Given the description of an element on the screen output the (x, y) to click on. 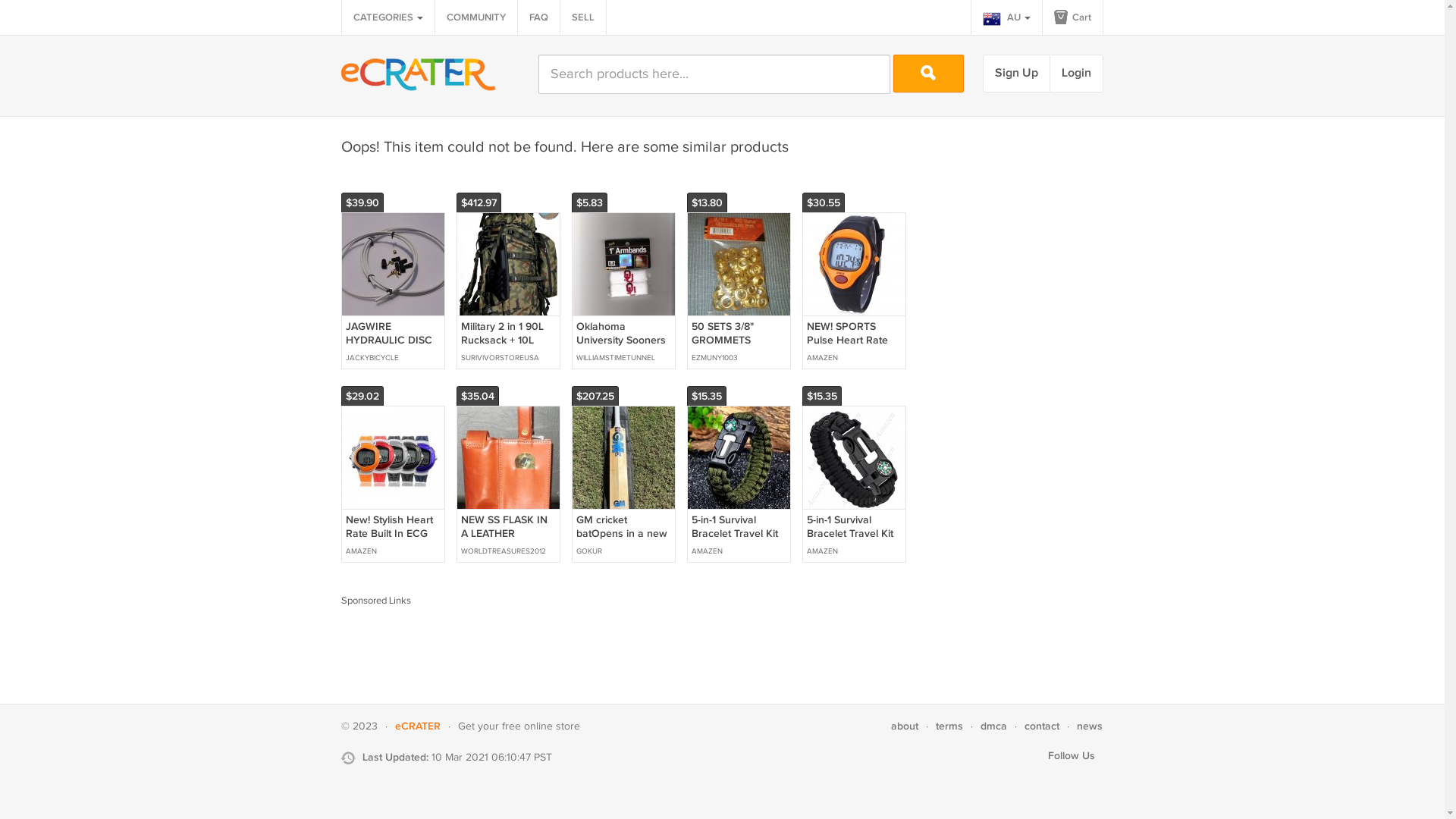
WILLIAMSTIMETUNNEL Element type: text (623, 357)
50 SETS 3/8" GROMMETS SEALED IN ORIGINAL PACKAGE NEW Element type: text (728, 354)
JACKYBICYCLE Element type: text (392, 357)
news Element type: text (1089, 726)
about Element type: text (904, 726)
terms Element type: text (949, 726)
EZMUNY1003 Element type: text (738, 357)
free online store Element type: text (541, 726)
Oklahoma University Sooners OU Team Armbands New in Package Element type: text (620, 354)
Follow Us Element type: text (1071, 755)
Advertisement Element type: hover (617, 642)
NEW SS FLASK IN A LEATHER CARRIER GOLF TRAVEL COMPANION Element type: hover (508, 457)
eCRATER Element type: text (417, 726)
contact Element type: text (1041, 726)
CATEGORIES Element type: text (388, 17)
SELL Element type: text (582, 17)
NEW SS FLASK IN A LEATHER CARRIER GOLF TRAVEL COMPANION Element type: text (504, 547)
SURIVIVORSTOREUSA Element type: text (508, 357)
Login Element type: text (1076, 73)
GM cricket batOpens in a new window or tab Pre-Owned Element type: text (621, 540)
COMMUNITY Element type: text (476, 17)
GOKUR Element type: text (623, 551)
dmca Element type: text (993, 726)
Cart Element type: text (1072, 17)
FAQ Element type: text (538, 17)
AMAZEN Element type: text (738, 551)
AMAZEN Element type: text (853, 357)
AMAZEN Element type: text (853, 551)
AMAZEN Element type: text (392, 551)
GM cricket batOpens in a new window or tab Pre-Owned Element type: hover (623, 457)
50 SETS 3/8" GROMMETS SEALED IN ORIGINAL PACKAGE NEW Element type: hover (738, 264)
Sign Up Element type: text (1015, 73)
Oklahoma University Sooners OU Team Armbands New in Package Element type: hover (623, 264)
AU Element type: text (1006, 17)
WORLDTREASURES2012 Element type: text (508, 551)
